Given the description of an element on the screen output the (x, y) to click on. 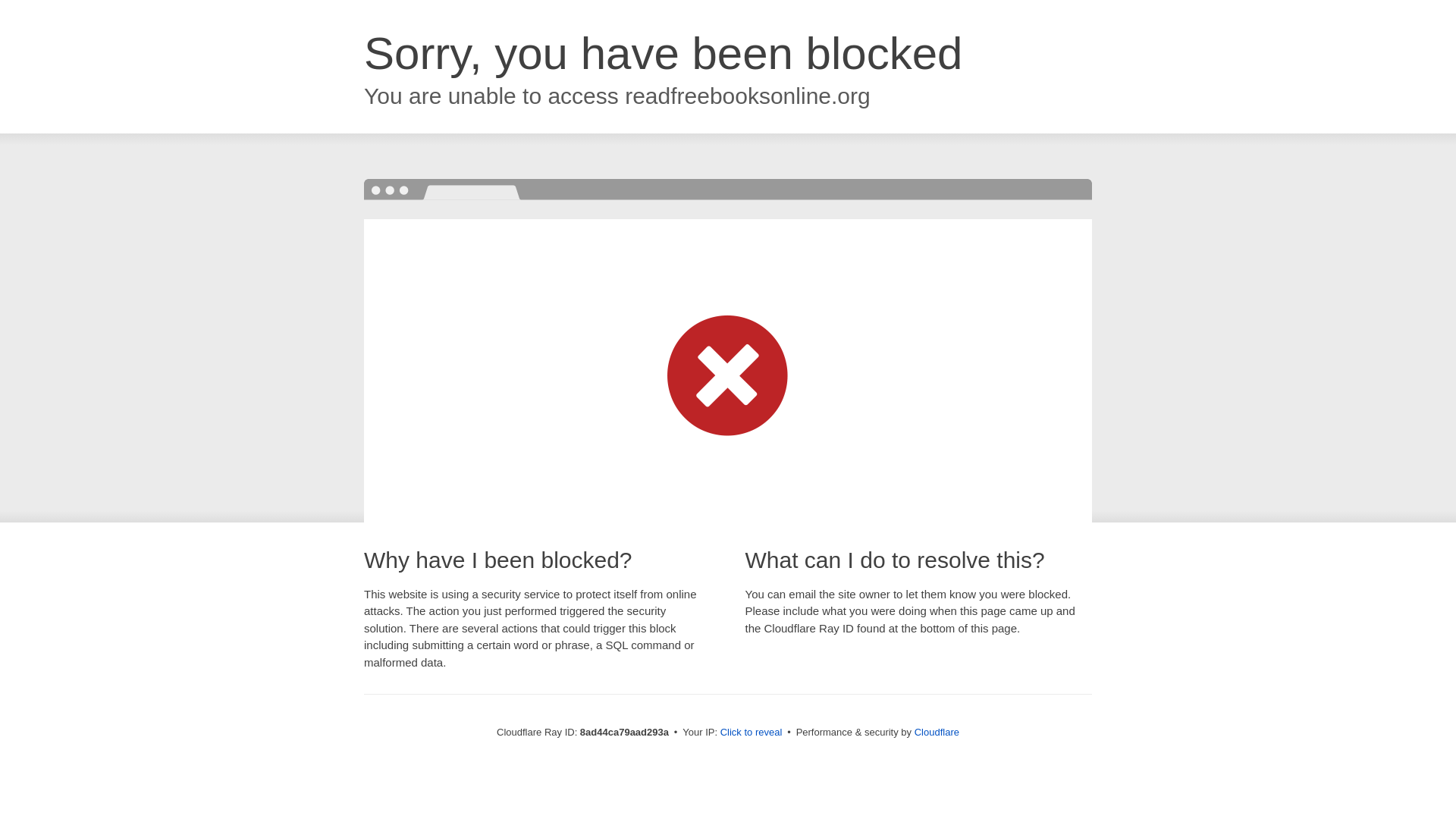
Cloudflare (936, 731)
Click to reveal (751, 732)
